Given the description of an element on the screen output the (x, y) to click on. 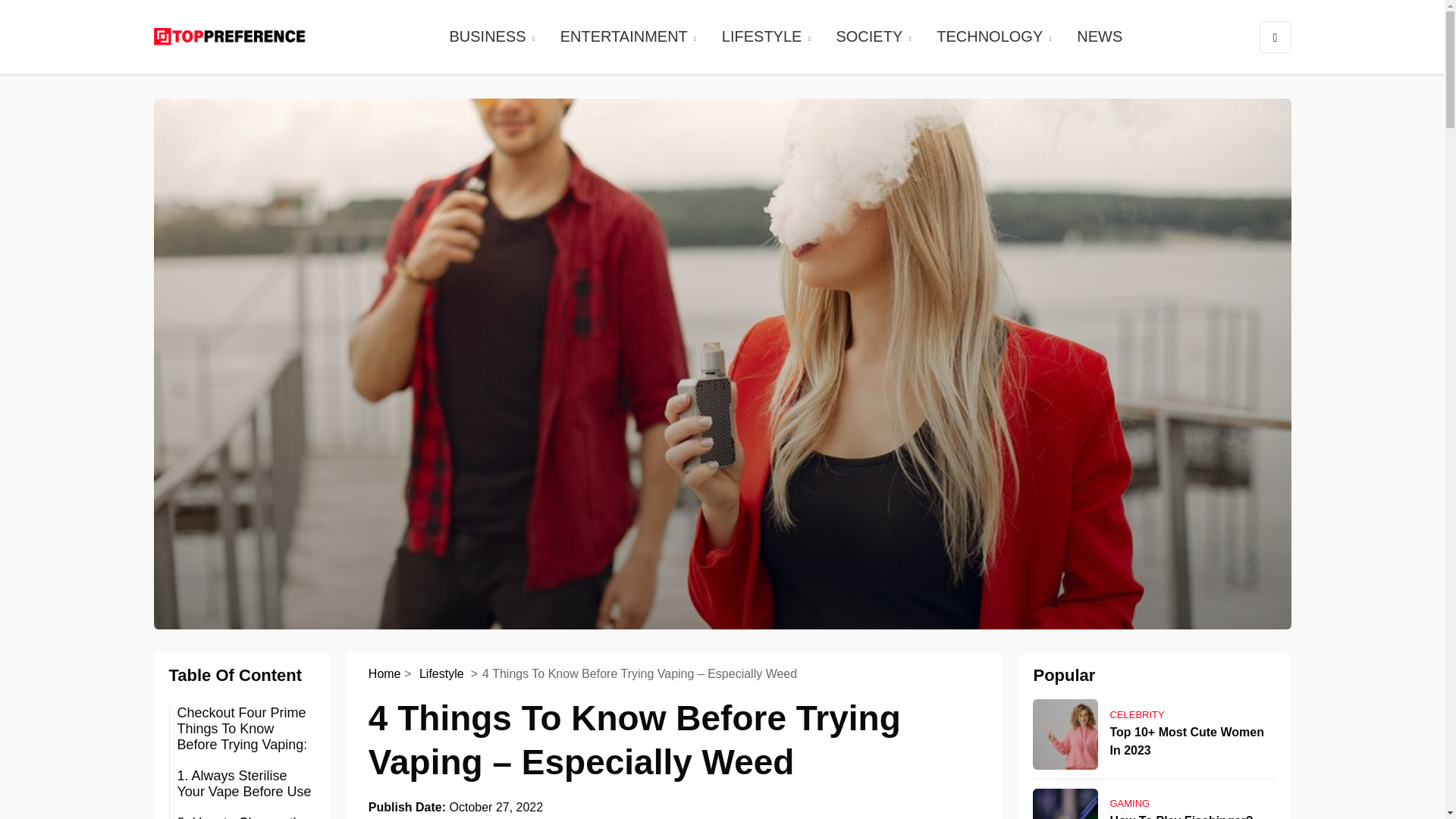
ENTERTAINMENT (629, 36)
LIFESTYLE (767, 36)
Lifestyle (443, 673)
Gaming (1192, 803)
Celebrity (1192, 714)
BUSINESS (493, 36)
SOCIETY (874, 36)
